Given the description of an element on the screen output the (x, y) to click on. 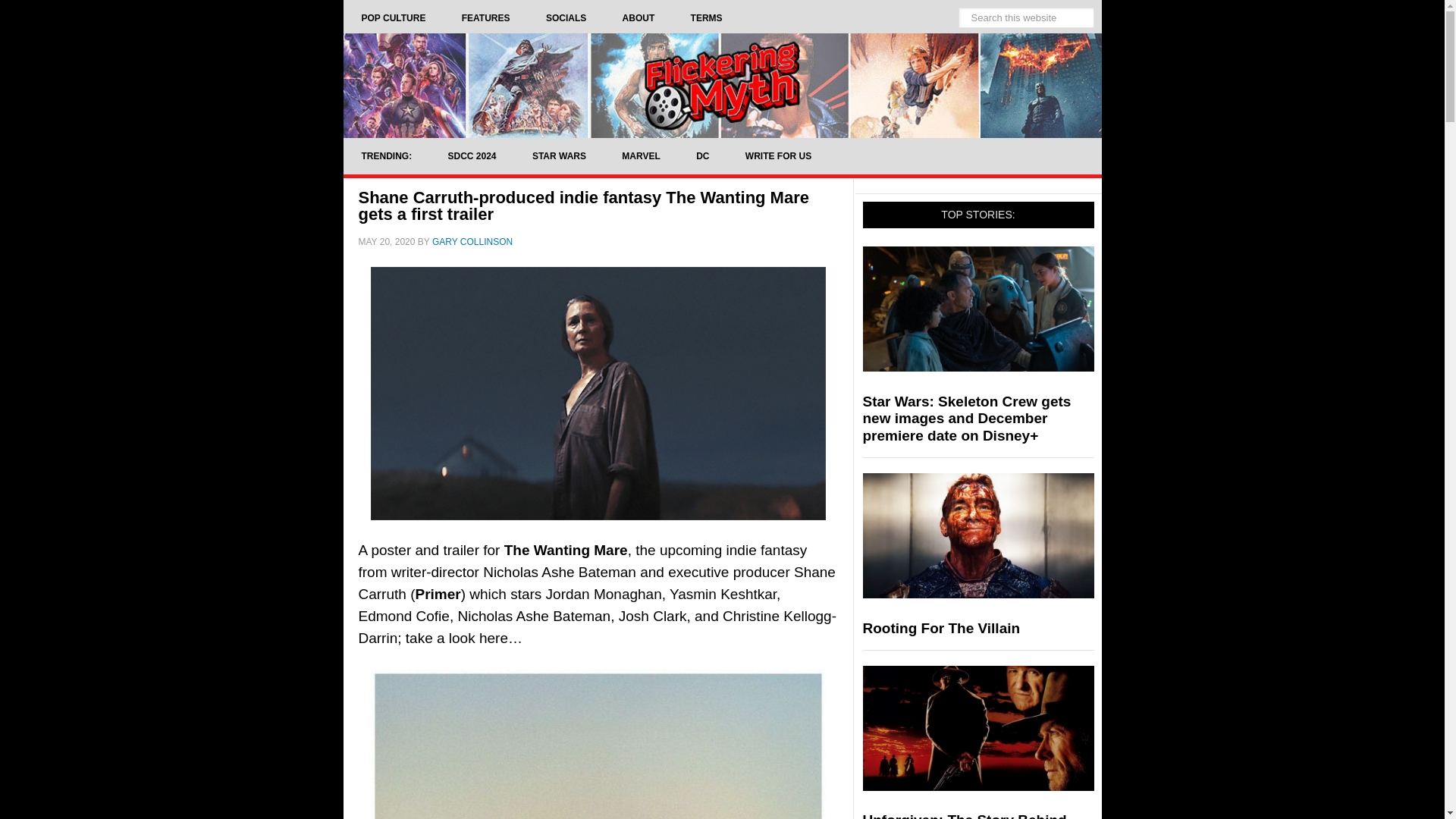
POP CULTURE (393, 18)
ABOUT (638, 18)
Flickering Myth Social Media (565, 18)
MARVEL (641, 156)
TRENDING: (385, 156)
FEATURES (486, 18)
STAR WARS (558, 156)
SOCIALS (565, 18)
TERMS (706, 18)
SDCC 2024 (472, 156)
Features (486, 18)
GARY COLLINSON (472, 241)
WRITE FOR US (777, 156)
